Given the description of an element on the screen output the (x, y) to click on. 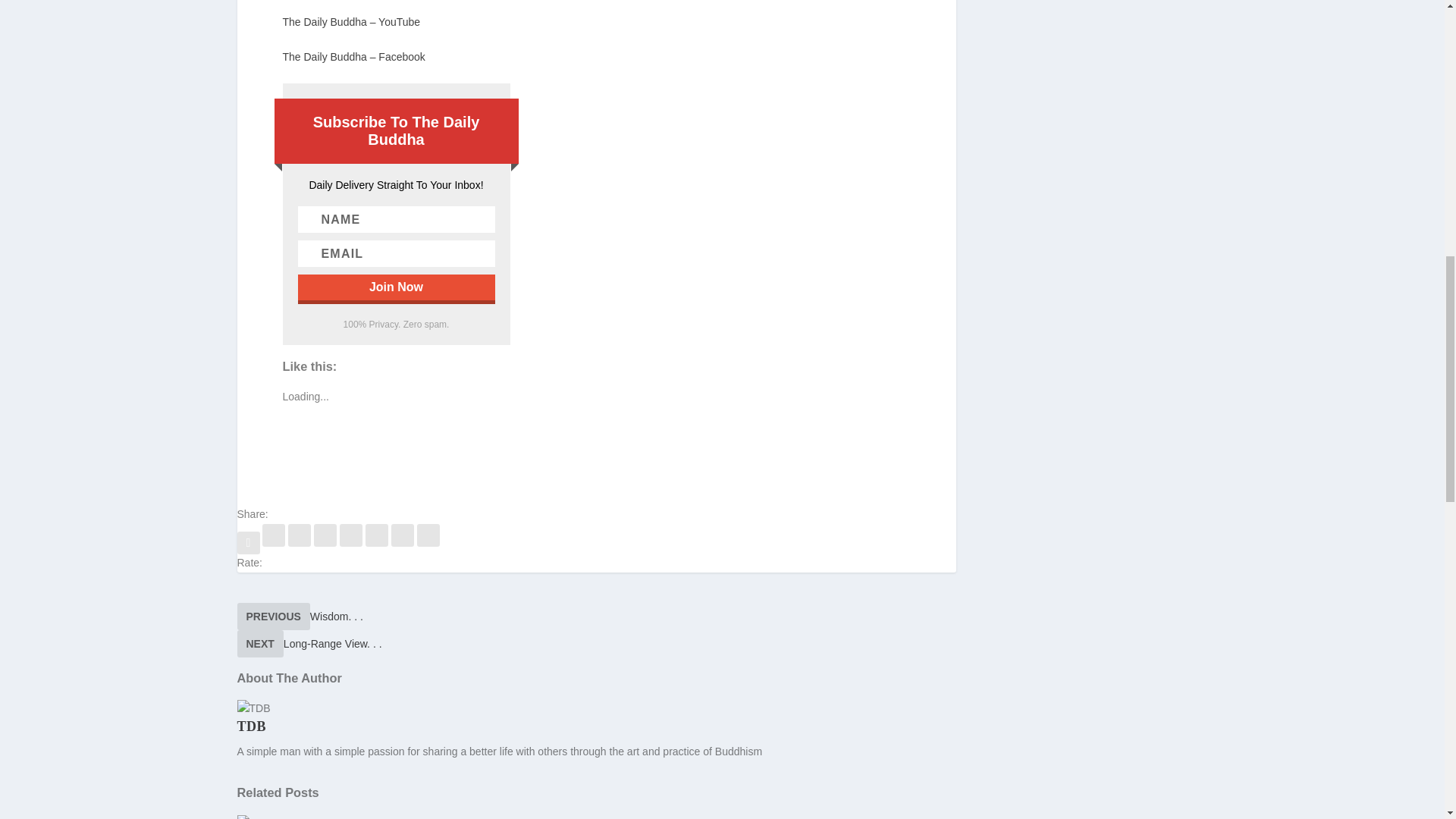
Share "Insight. . ." via LinkedIn (352, 542)
TDB (250, 726)
Join Now (396, 287)
Share "Insight. . ." via Twitter (275, 542)
Share "Insight. . ." via Email (403, 542)
NEXTLong-Range View. . . (308, 644)
Share "Insight. . ." via Facebook (248, 542)
PREVIOUSWisdom. . . (298, 616)
Share "Insight. . ." via Pinterest (326, 542)
Share "Insight. . ." via Stumbleupon (378, 542)
